Given the description of an element on the screen output the (x, y) to click on. 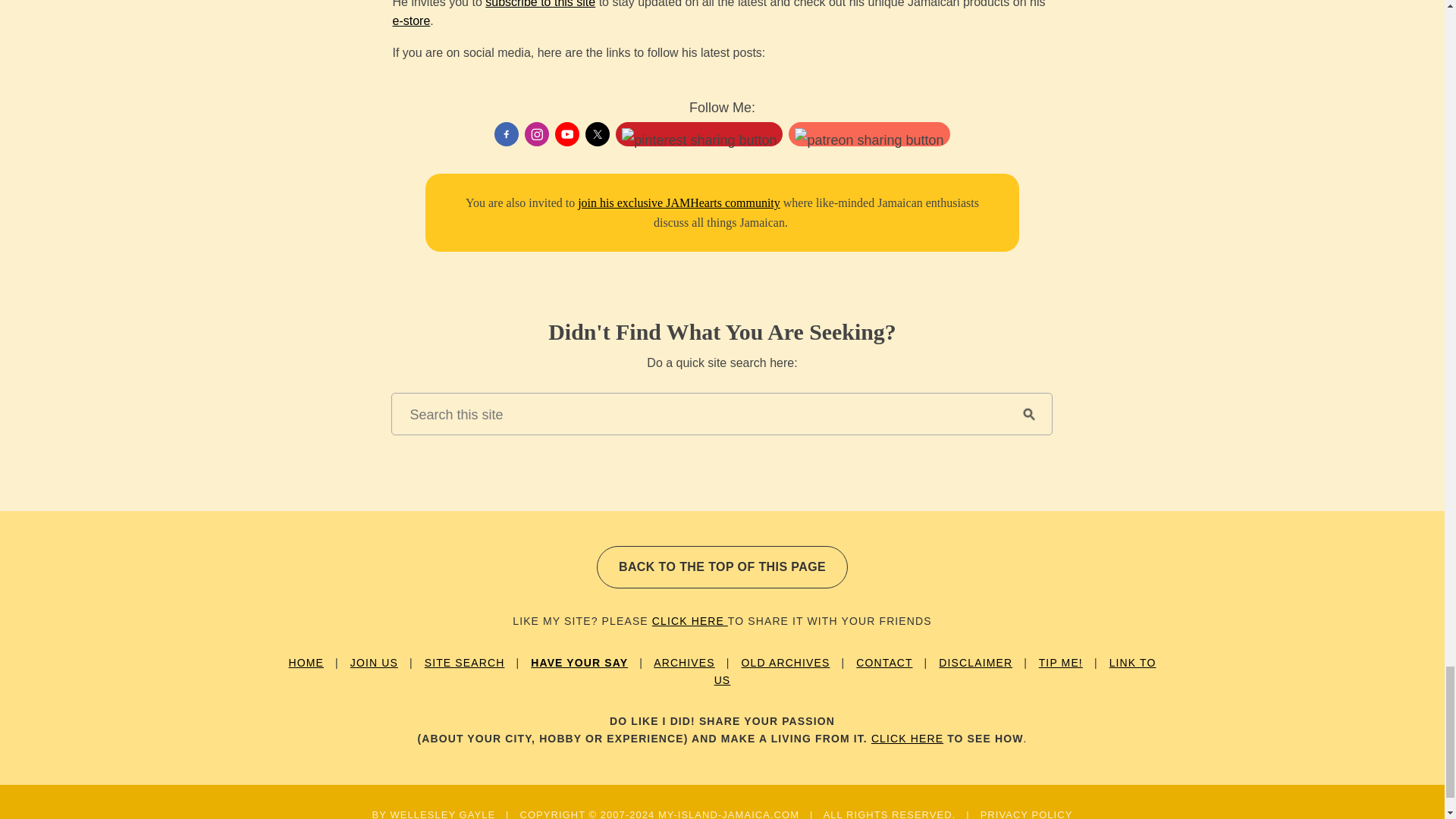
Go (1028, 413)
Search this site (698, 413)
Search this site (698, 413)
